Given the description of an element on the screen output the (x, y) to click on. 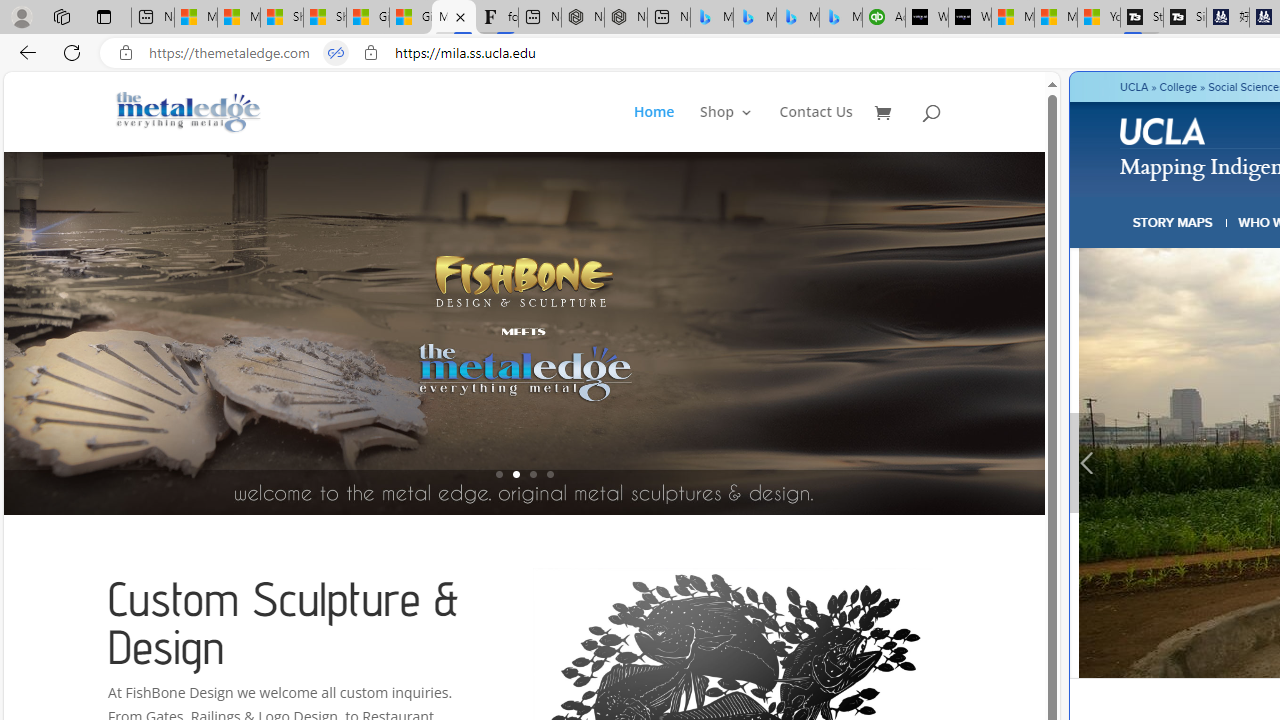
STORY MAPS (1173, 222)
notacorn (608, 462)
4 (550, 474)
Microsoft Bing Travel - Stays in Bangkok, Bangkok, Thailand (754, 17)
Shop3 (737, 128)
Contact Us (815, 128)
Gilma and Hector both pose tropical trouble for Hawaii (411, 17)
Home (665, 128)
Nordace - #1 Japanese Best-Seller - Siena Smart Backpack (625, 17)
